Given the description of an element on the screen output the (x, y) to click on. 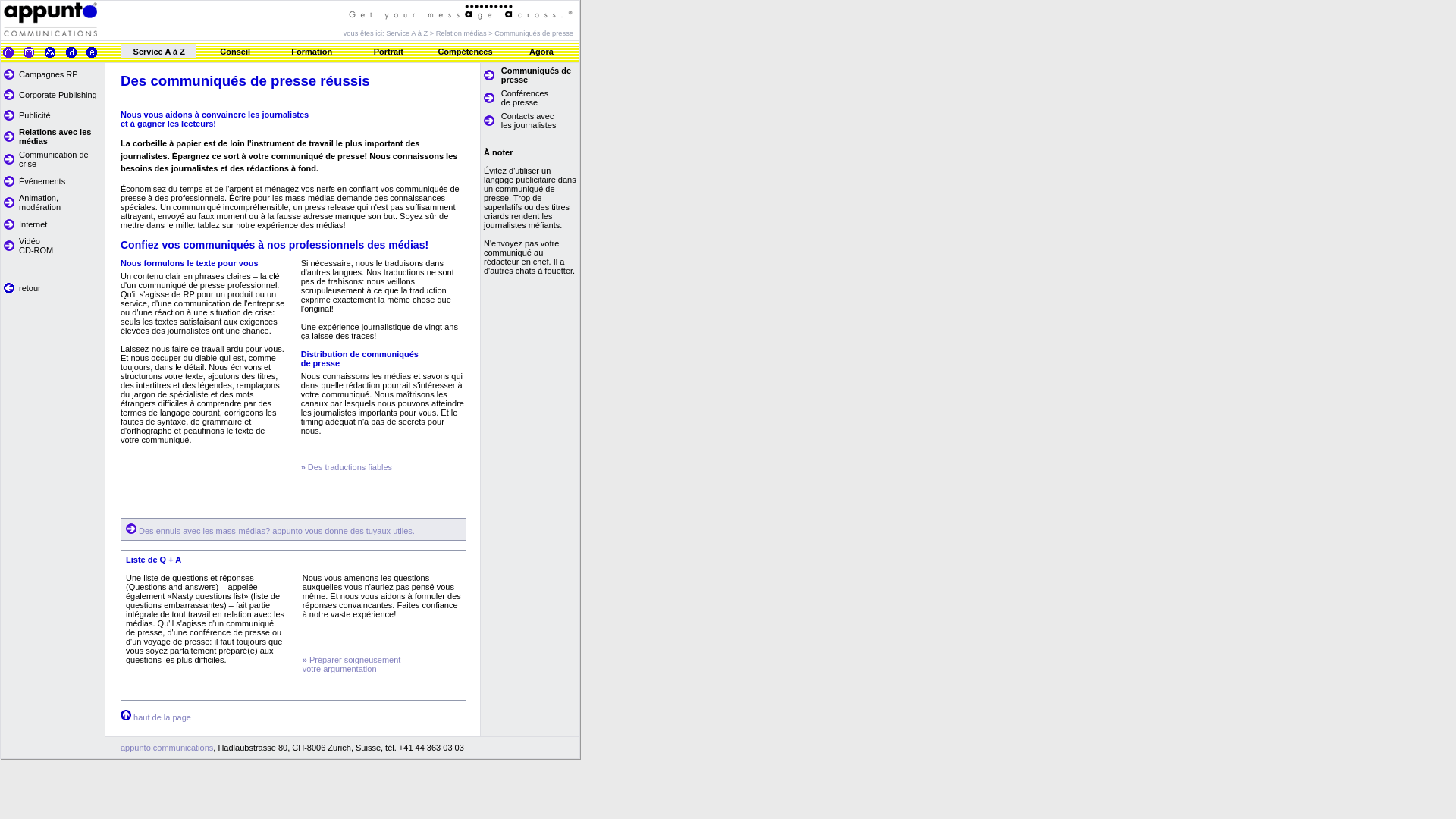
Communication de crise Element type: text (53, 159)
Internet Element type: text (32, 224)
Corporate Publishing Element type: text (57, 93)
Campagnes RP Element type: text (48, 73)
Formation Element type: text (311, 51)
Portrait Element type: text (388, 51)
retour Element type: text (29, 287)
Agora Element type: text (541, 51)
appunto communications Element type: text (166, 747)
Conseil Element type: text (234, 51)
haut de la page Element type: text (162, 716)
Contacts avec
les journalistes Element type: text (528, 120)
